Given the description of an element on the screen output the (x, y) to click on. 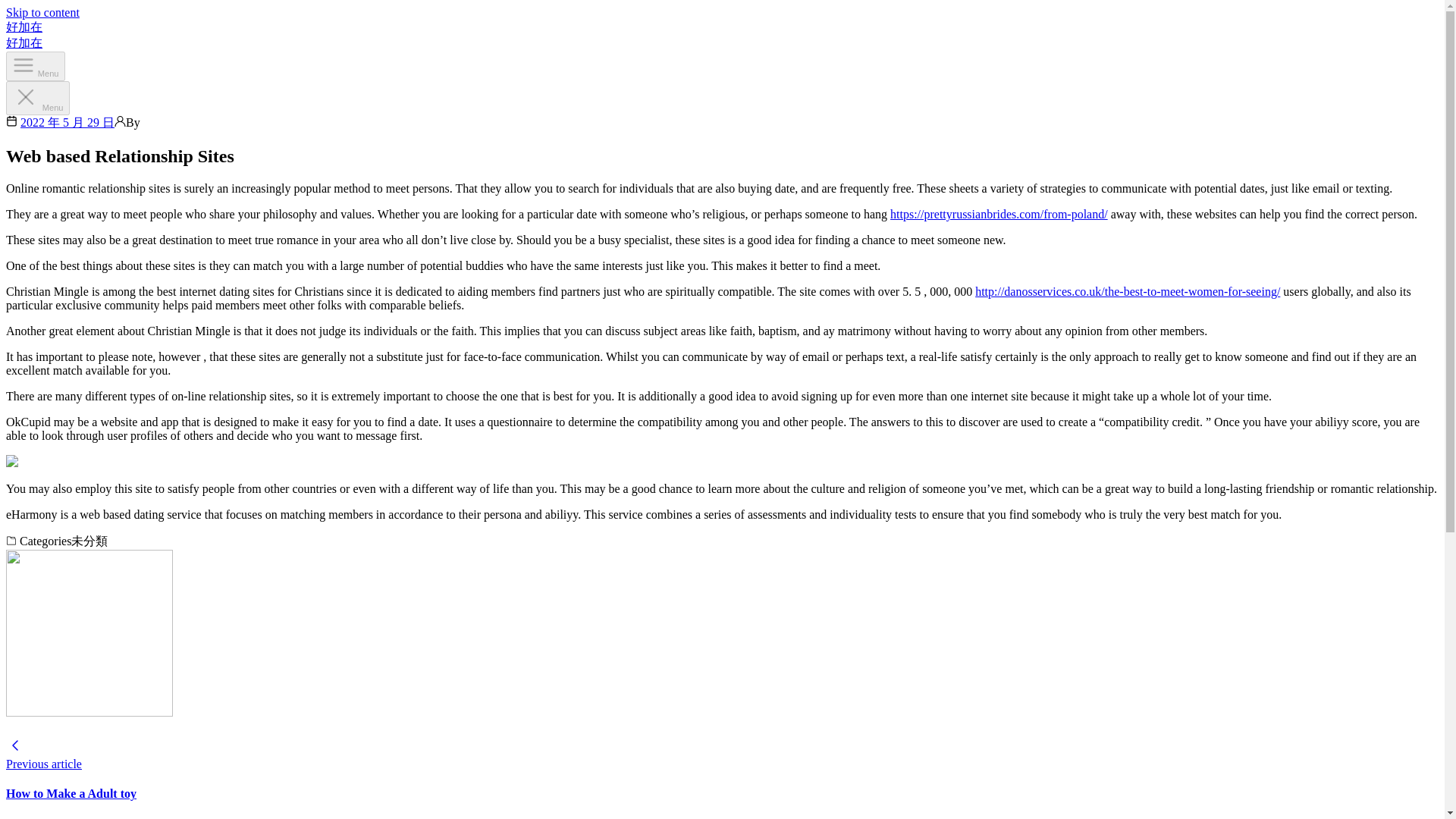
Skip to content (42, 11)
Menu (35, 66)
Menu (37, 98)
